Given the description of an element on the screen output the (x, y) to click on. 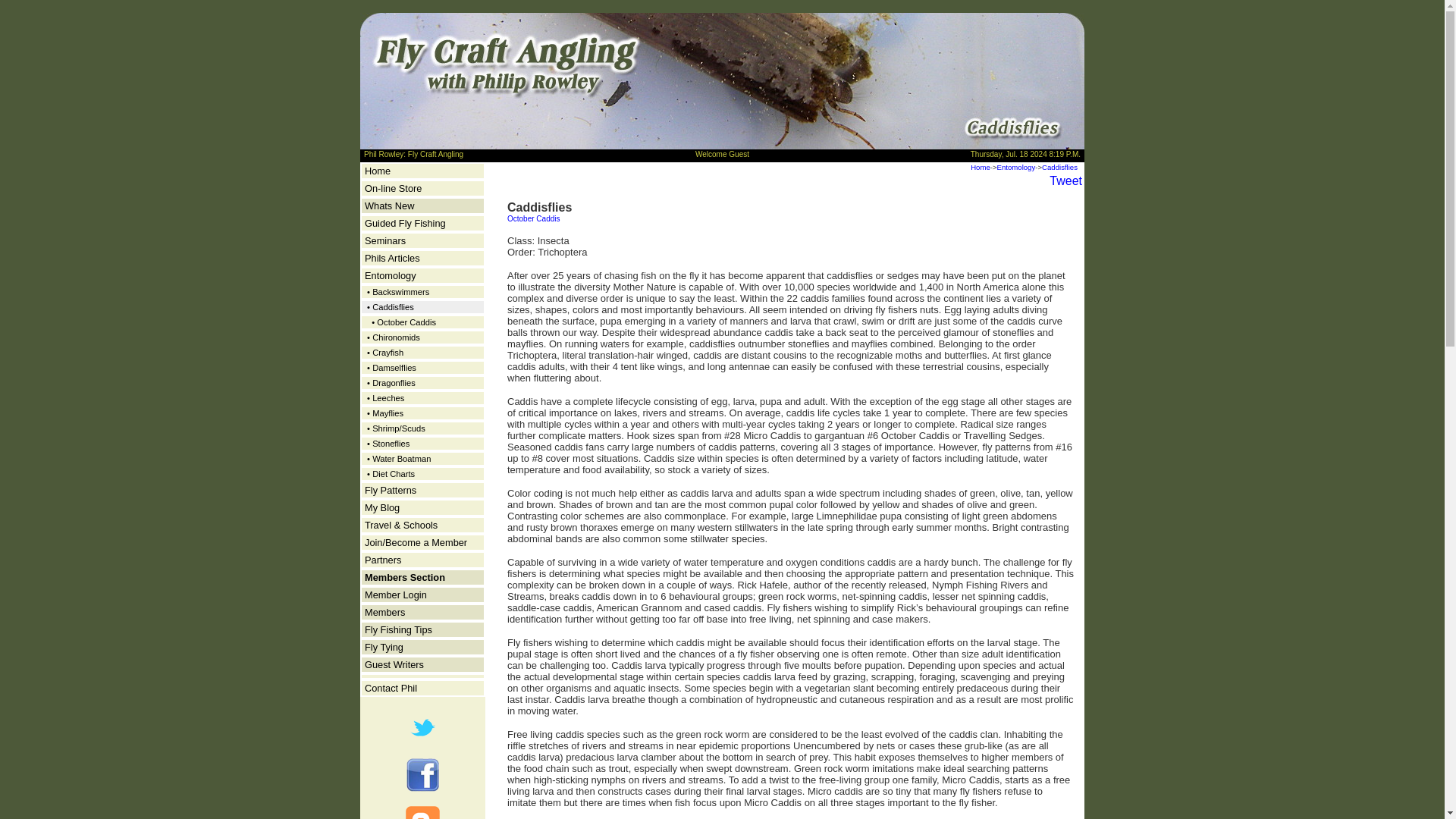
Partners (383, 559)
Home (980, 166)
Member Login (395, 594)
Guided Fly Fishing (405, 223)
Home (377, 170)
October Caddis (532, 218)
Fly Patterns (390, 490)
Seminars (385, 240)
Entomology (390, 275)
Entomology (1016, 166)
Fly Fishing Tips (398, 629)
Phils Articles (392, 257)
Whats New (389, 205)
Members (384, 612)
Contact Phil (390, 687)
